Given the description of an element on the screen output the (x, y) to click on. 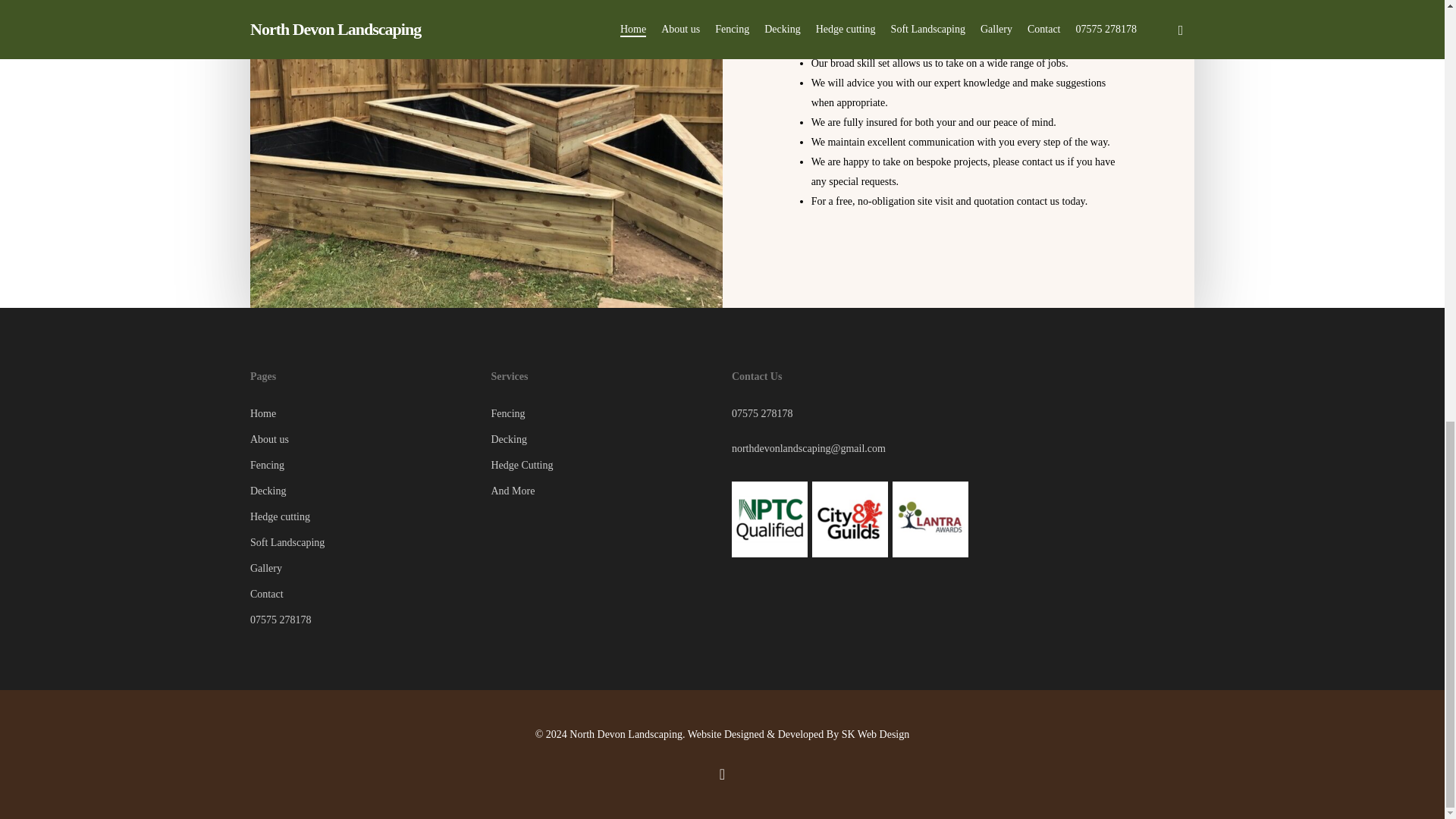
Soft Landscaping (360, 542)
07575 278178 (360, 619)
Hedge cutting (360, 516)
Gallery (360, 568)
About us (360, 439)
Home (360, 414)
Fencing (360, 465)
Decking (360, 491)
SK Web Design (875, 734)
Contact (360, 594)
